Given the description of an element on the screen output the (x, y) to click on. 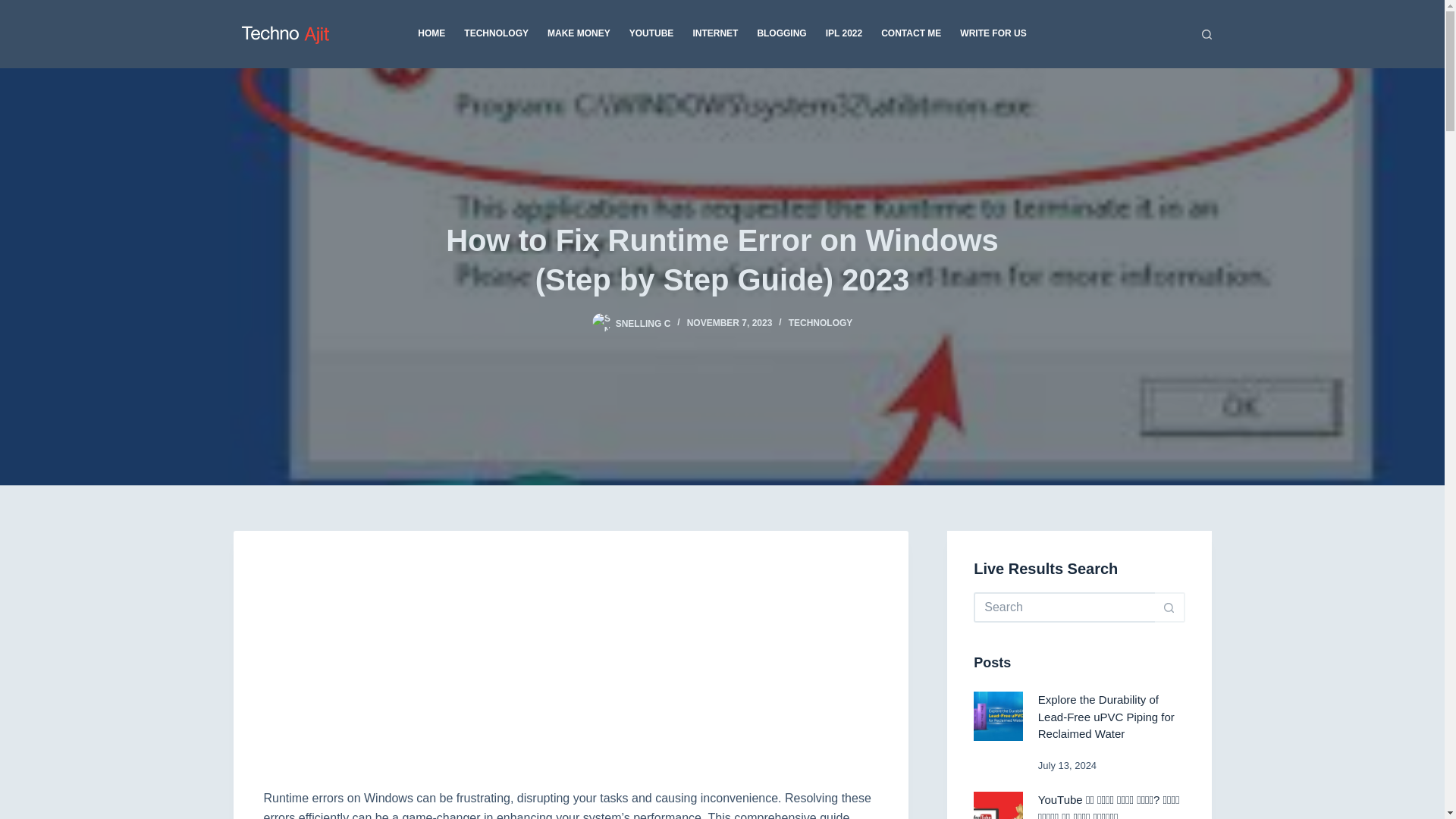
Search for... (1064, 607)
Advertisement (570, 674)
TECHNOLOGY (821, 322)
Posts by Snelling C (643, 322)
CONTACT ME (911, 33)
WRITE FOR US (988, 33)
Skip to content (15, 7)
MAKE MONEY (579, 33)
SNELLING C (643, 322)
BLOGGING (781, 33)
INTERNET (715, 33)
YOUTUBE (651, 33)
TECHNOLOGY (496, 33)
